Given the description of an element on the screen output the (x, y) to click on. 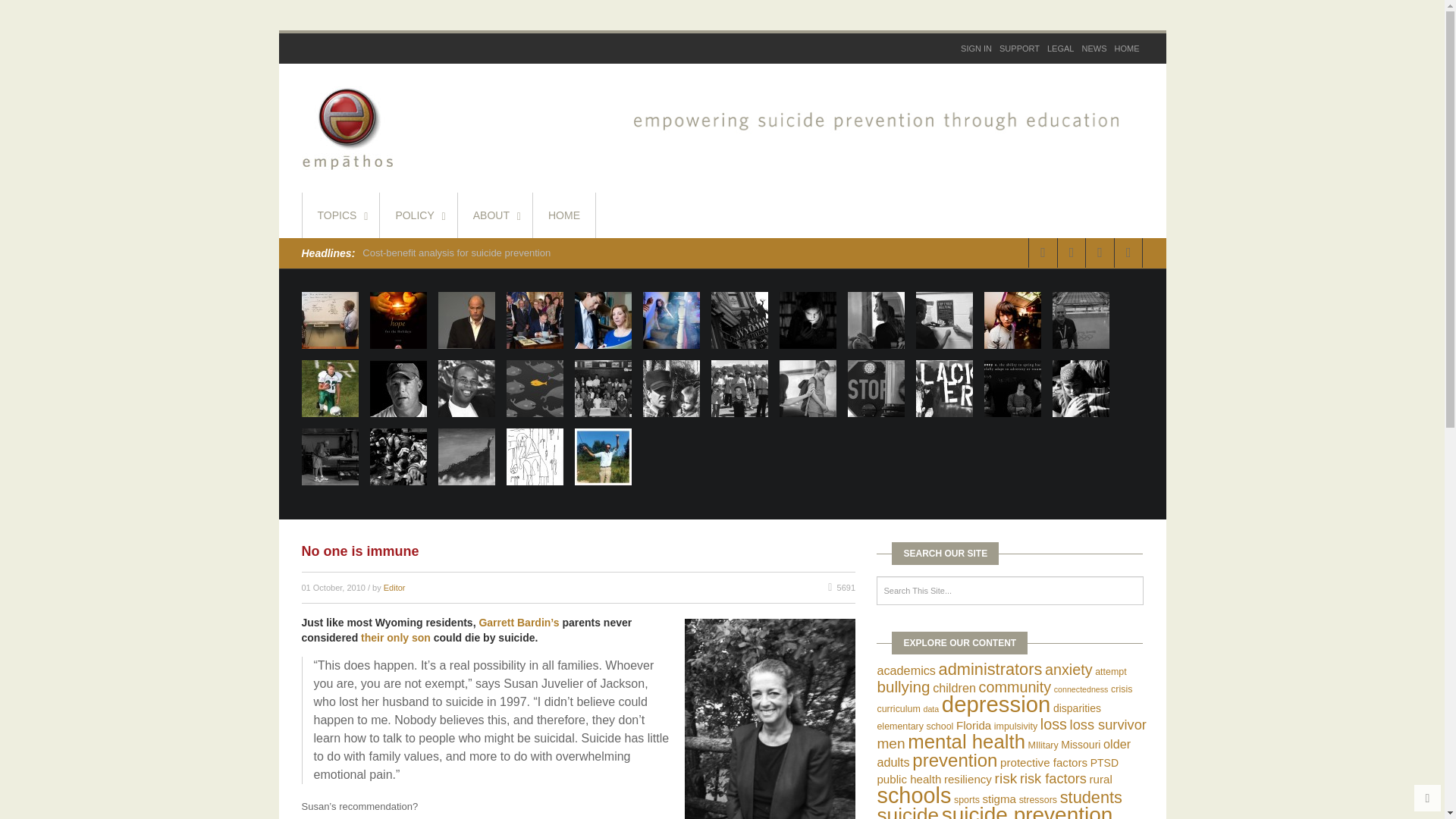
HOME (1125, 48)
SUPPORT (1019, 48)
TOPICS (339, 215)
ABOUT (495, 215)
SIGN IN (975, 48)
NEWS (1093, 48)
LEGAL (1060, 48)
POLICY (418, 215)
Cost-benefit analysis for suicide prevention (456, 252)
HOME (563, 215)
